Given the description of an element on the screen output the (x, y) to click on. 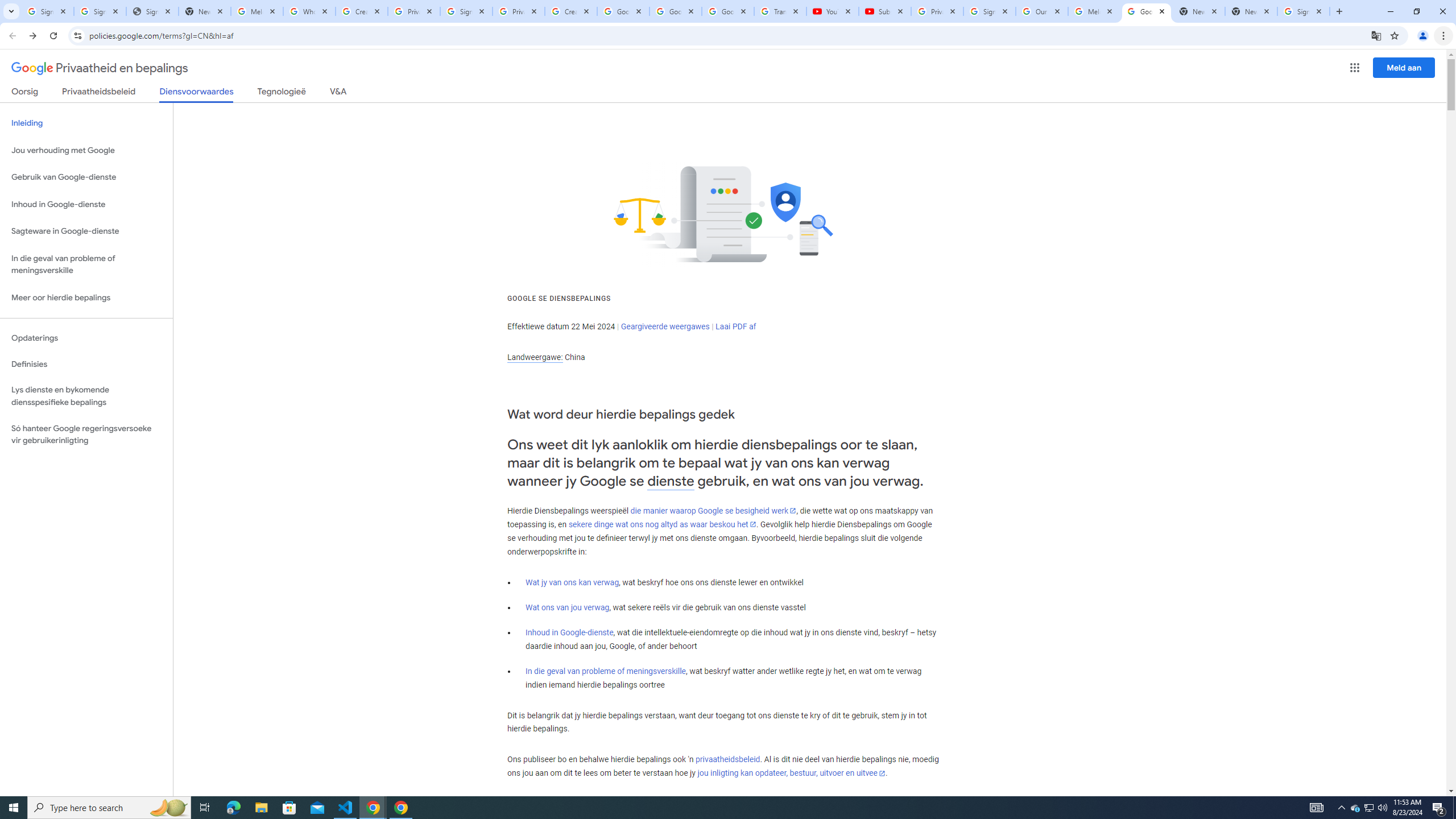
Jou verhouding met Google (86, 150)
Inhoud in Google-dienste (568, 632)
Privaatheid en bepalings (99, 68)
Sign in - Google Accounts (1303, 11)
Opdaterings (86, 338)
